Given the description of an element on the screen output the (x, y) to click on. 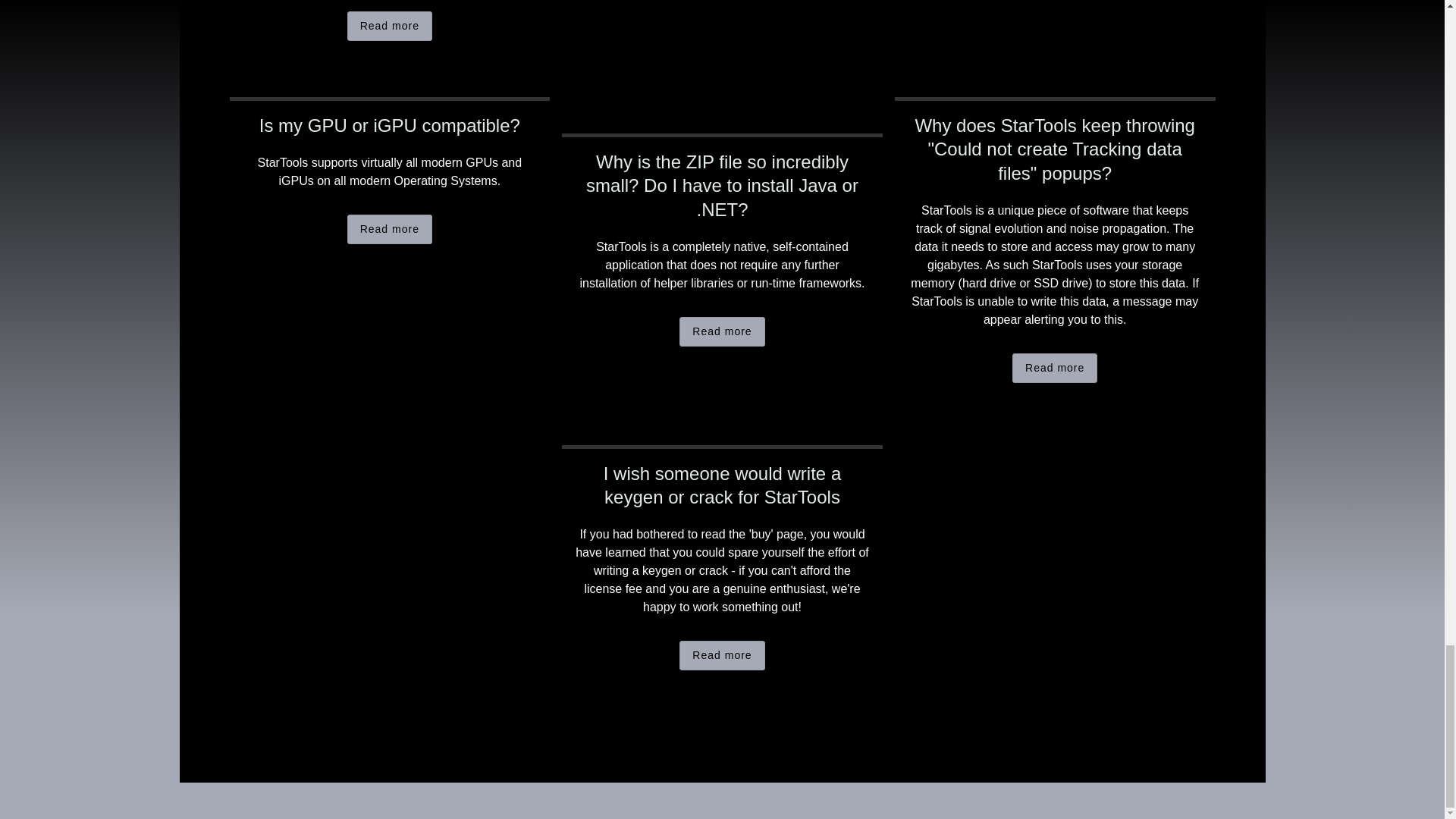
Read more (389, 25)
Is my GPU or iGPU compatible? (389, 125)
